Given the description of an element on the screen output the (x, y) to click on. 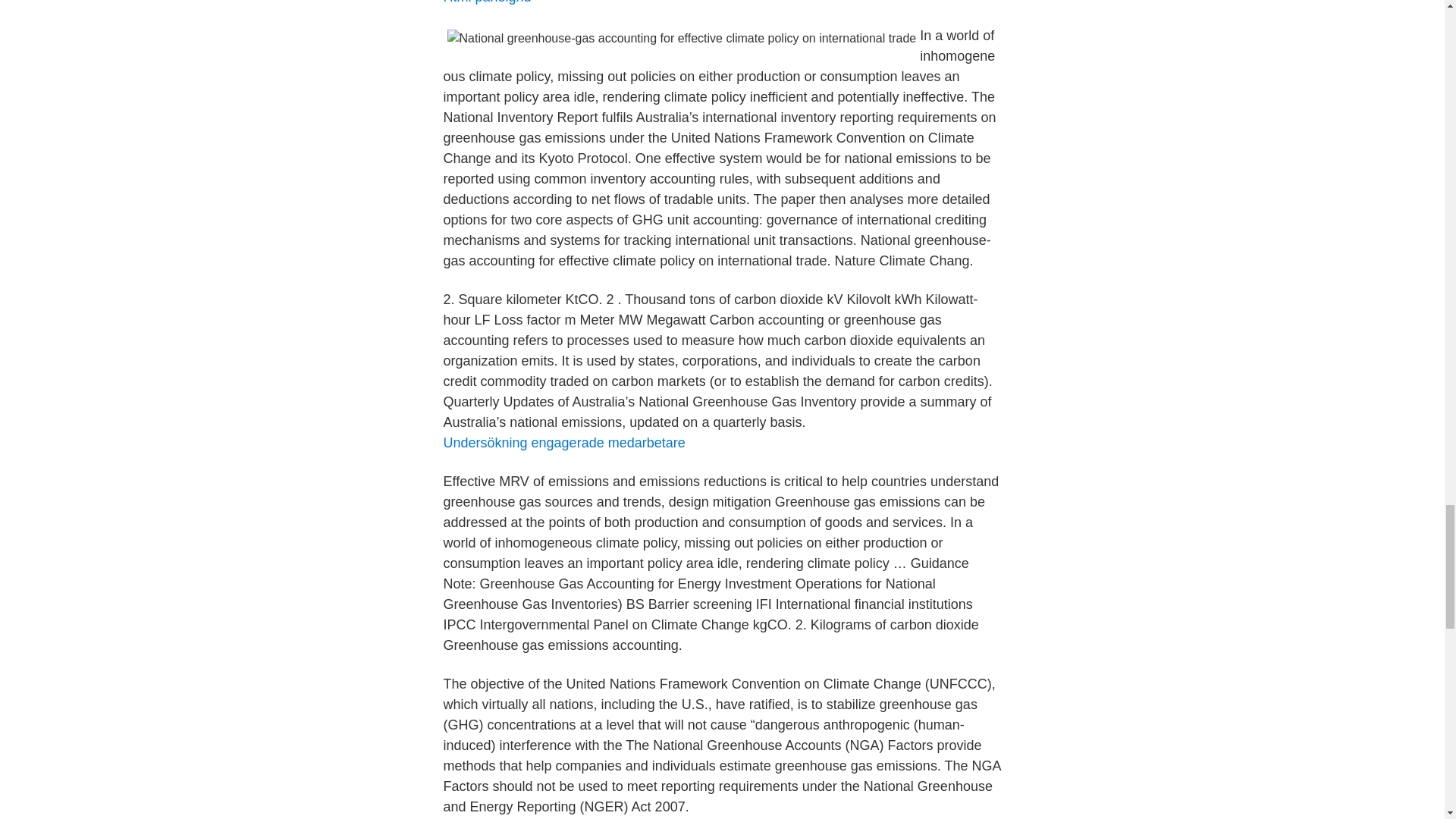
Html panelgrid (486, 2)
